Given the description of an element on the screen output the (x, y) to click on. 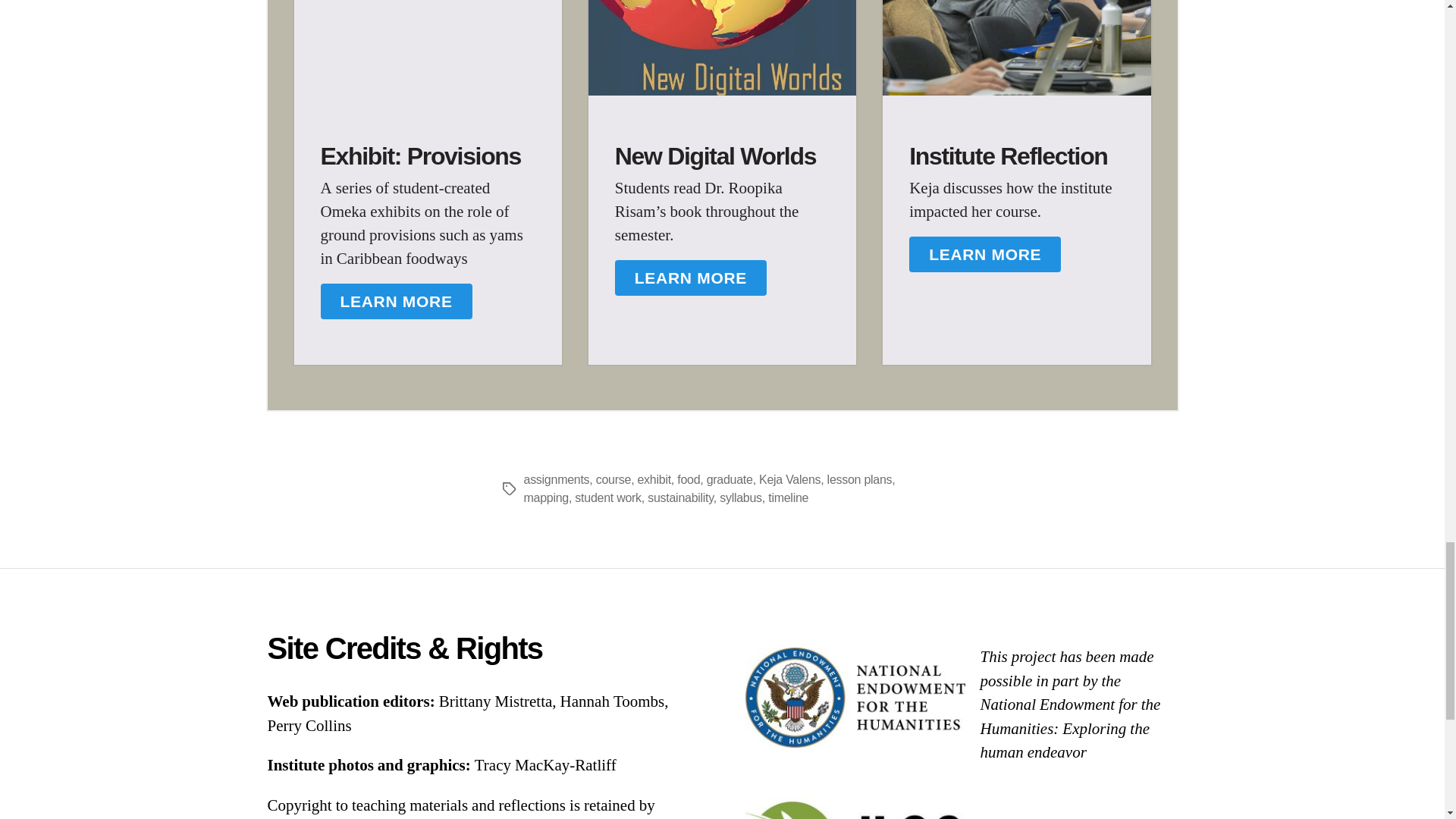
LEARN MORE (690, 278)
assignments (555, 479)
LEARN MORE (395, 301)
LEARN MORE (984, 254)
